Given the description of an element on the screen output the (x, y) to click on. 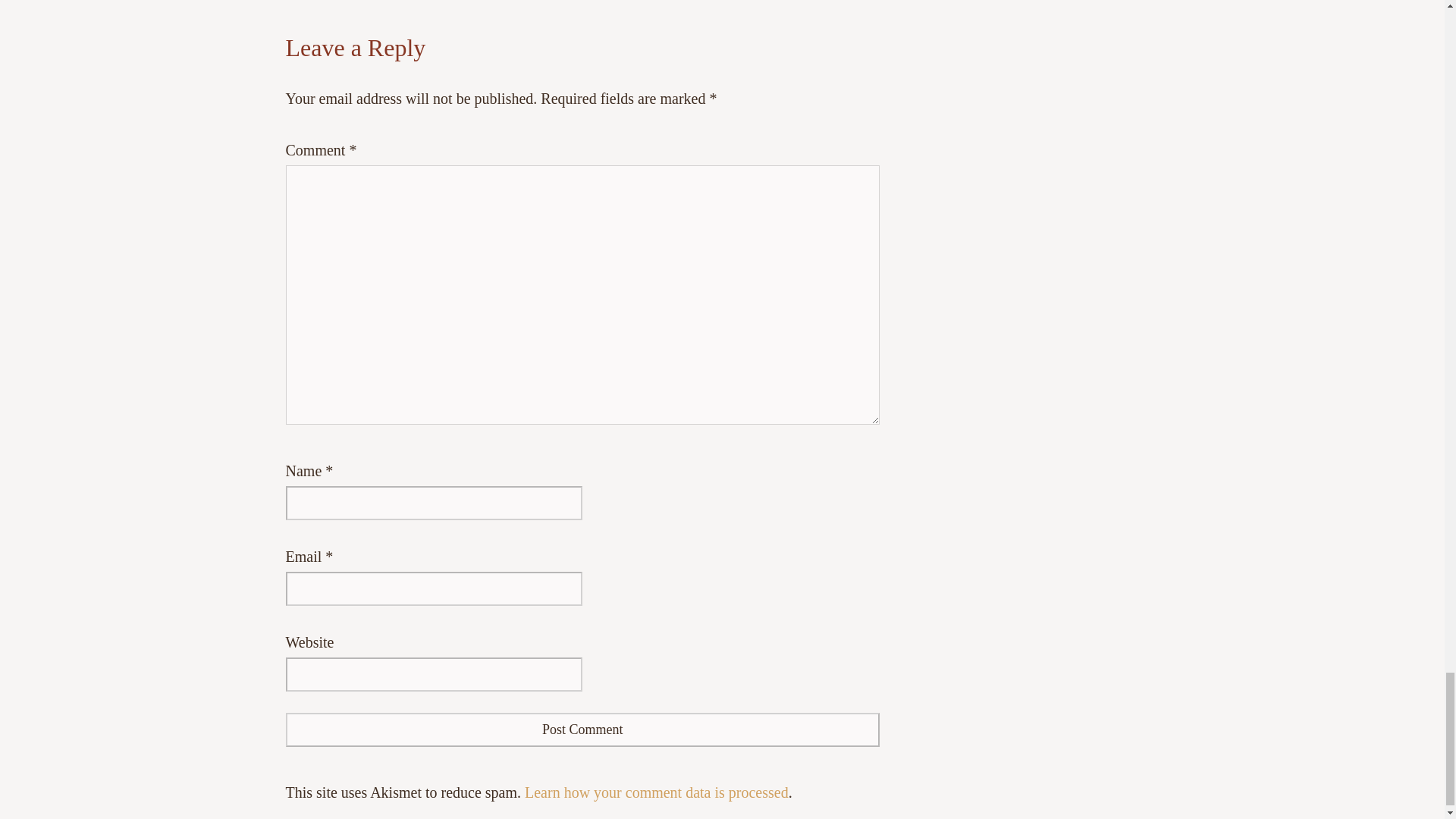
Learn how your comment data is processed (656, 791)
Post Comment (582, 729)
Post Comment (582, 729)
